Given the description of an element on the screen output the (x, y) to click on. 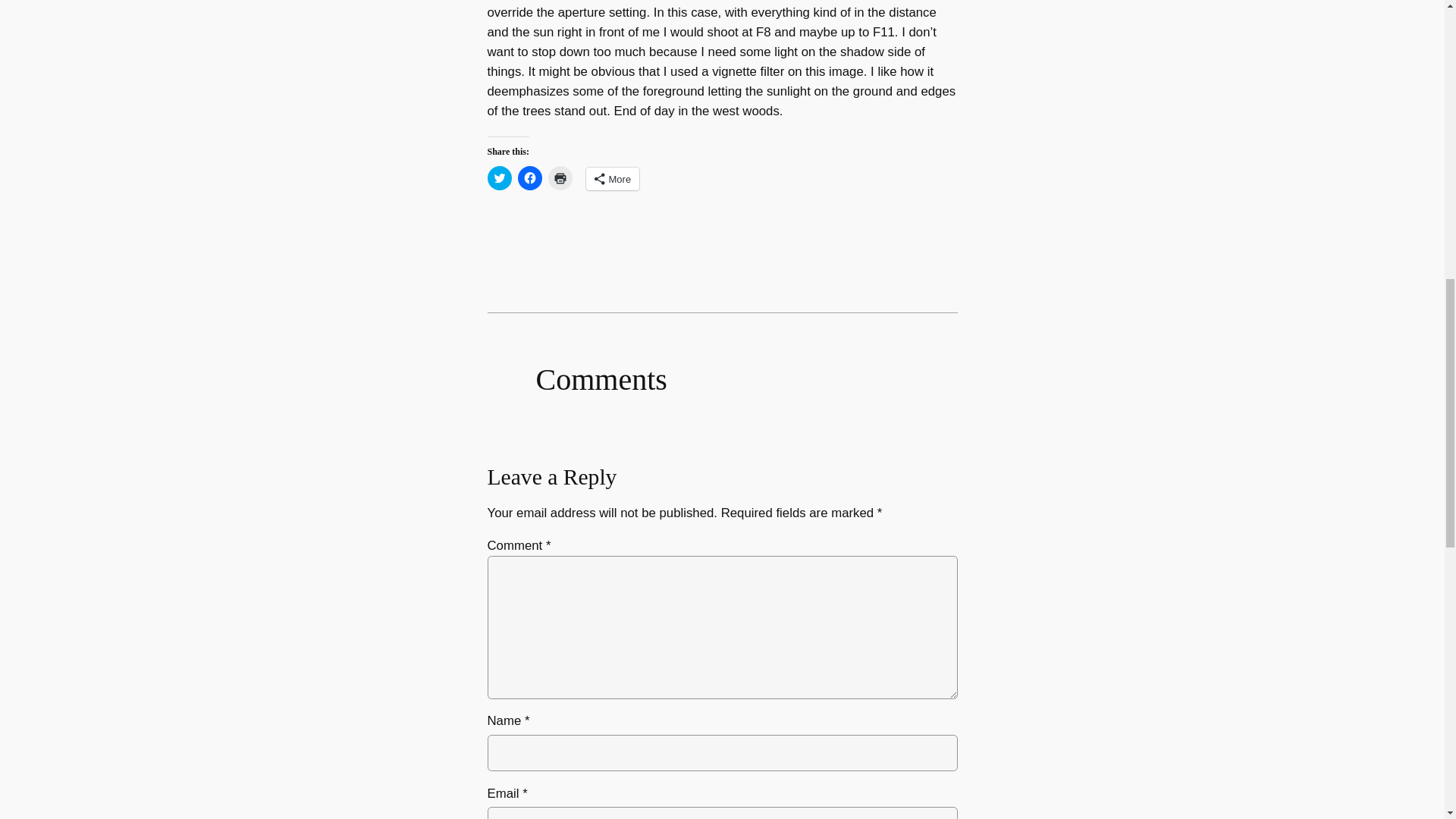
Click to share on Twitter (498, 178)
Click to share on Facebook (528, 178)
More (612, 178)
Click to print (559, 178)
